Given the description of an element on the screen output the (x, y) to click on. 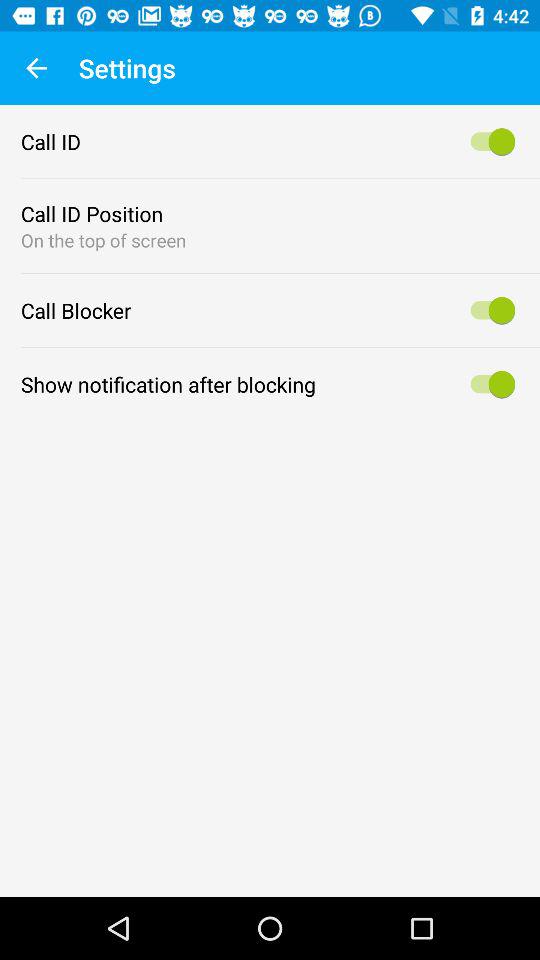
toggle on or off (489, 309)
